Given the description of an element on the screen output the (x, y) to click on. 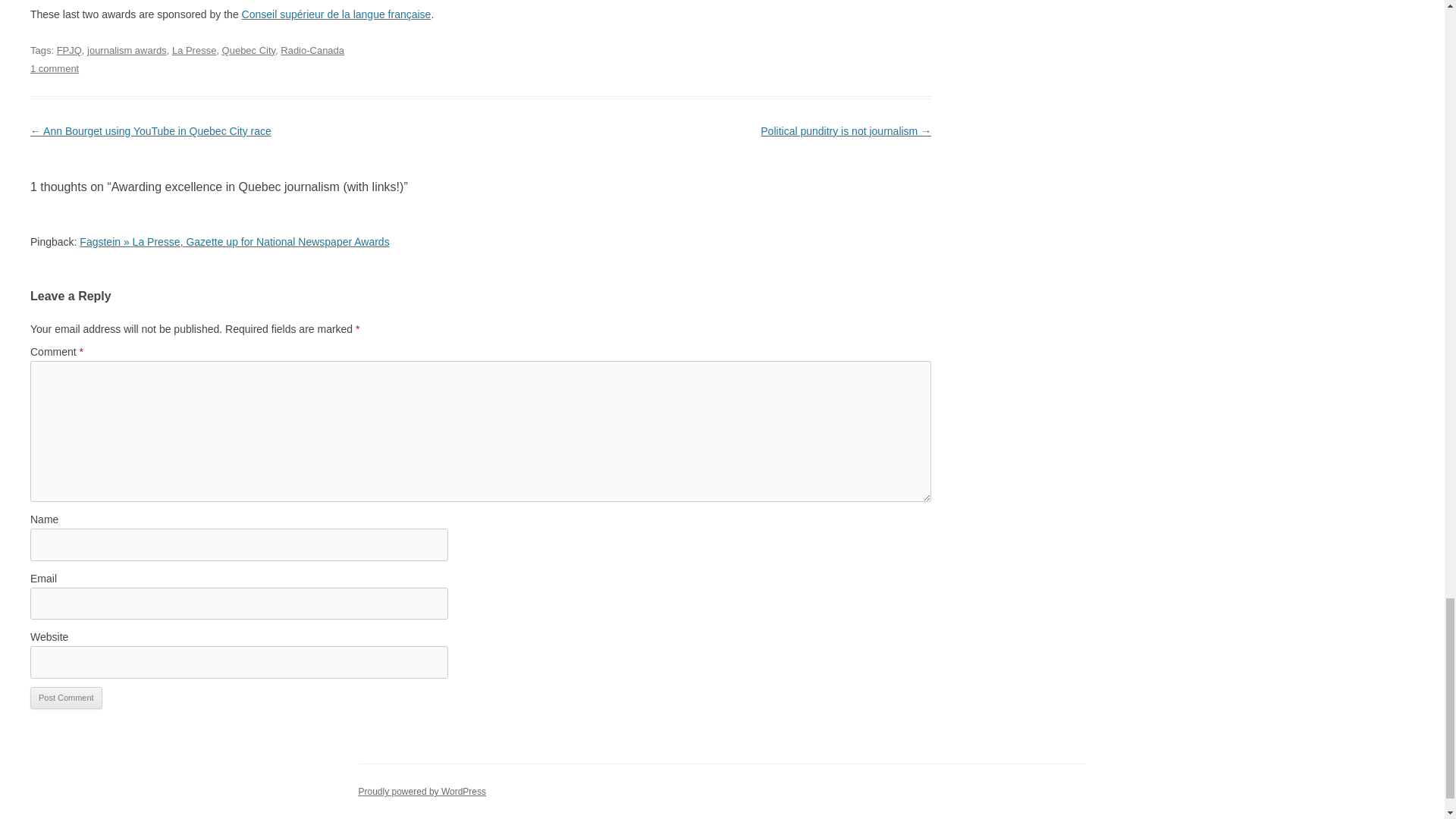
Post Comment (65, 698)
Semantic Personal Publishing Platform (422, 791)
